Given the description of an element on the screen output the (x, y) to click on. 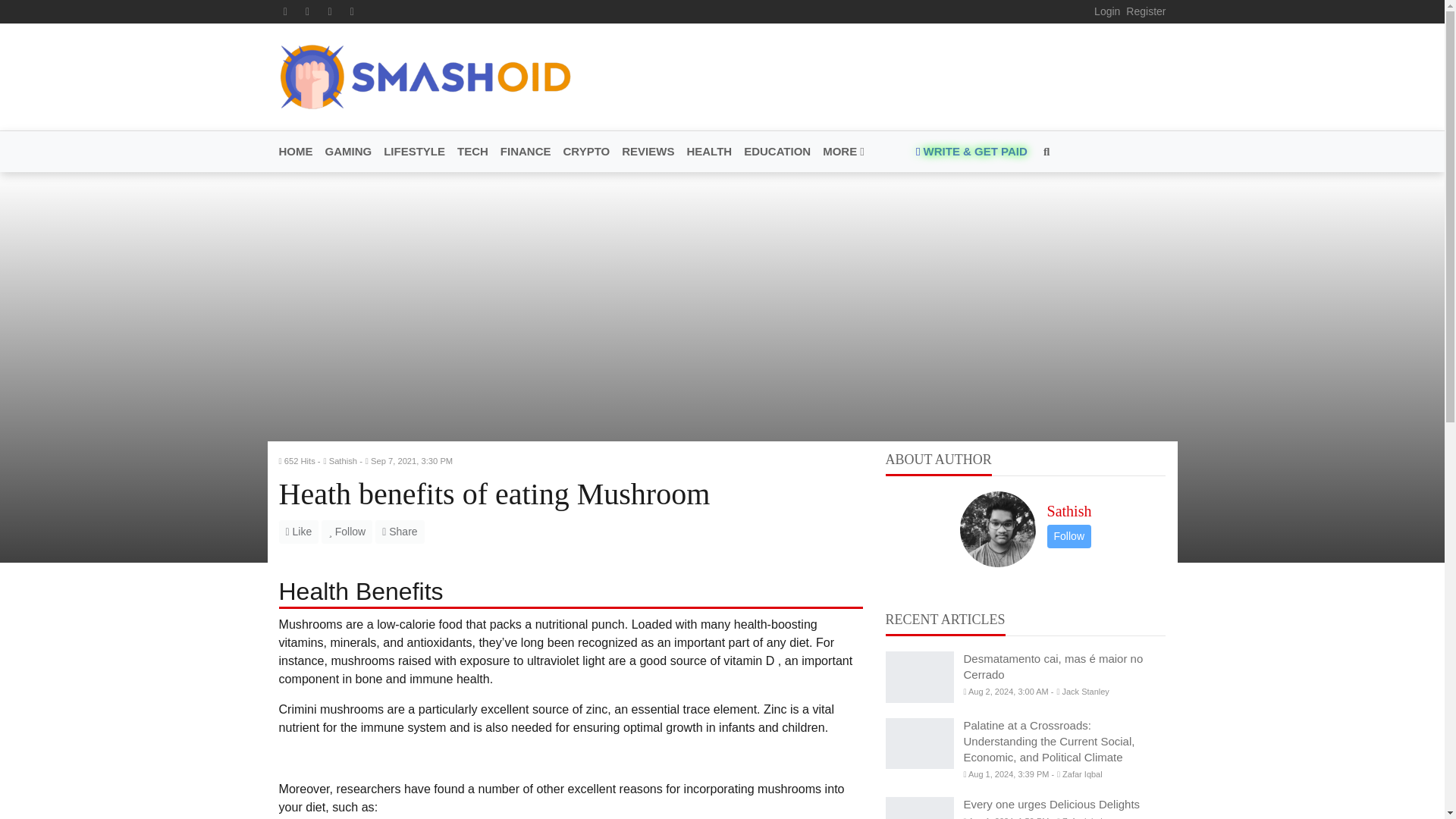
LIFESTYLE (414, 152)
Follow (1068, 535)
FINANCE (526, 152)
CRYPTO (586, 152)
Author (342, 461)
Register (1145, 10)
HOME (298, 152)
Login (1106, 10)
Every one urges Delicious Delights (919, 807)
GAMING (347, 152)
MORE (840, 152)
Pinterest (329, 11)
TECH (473, 152)
HEALTH (708, 152)
Published on (411, 461)
